Given the description of an element on the screen output the (x, y) to click on. 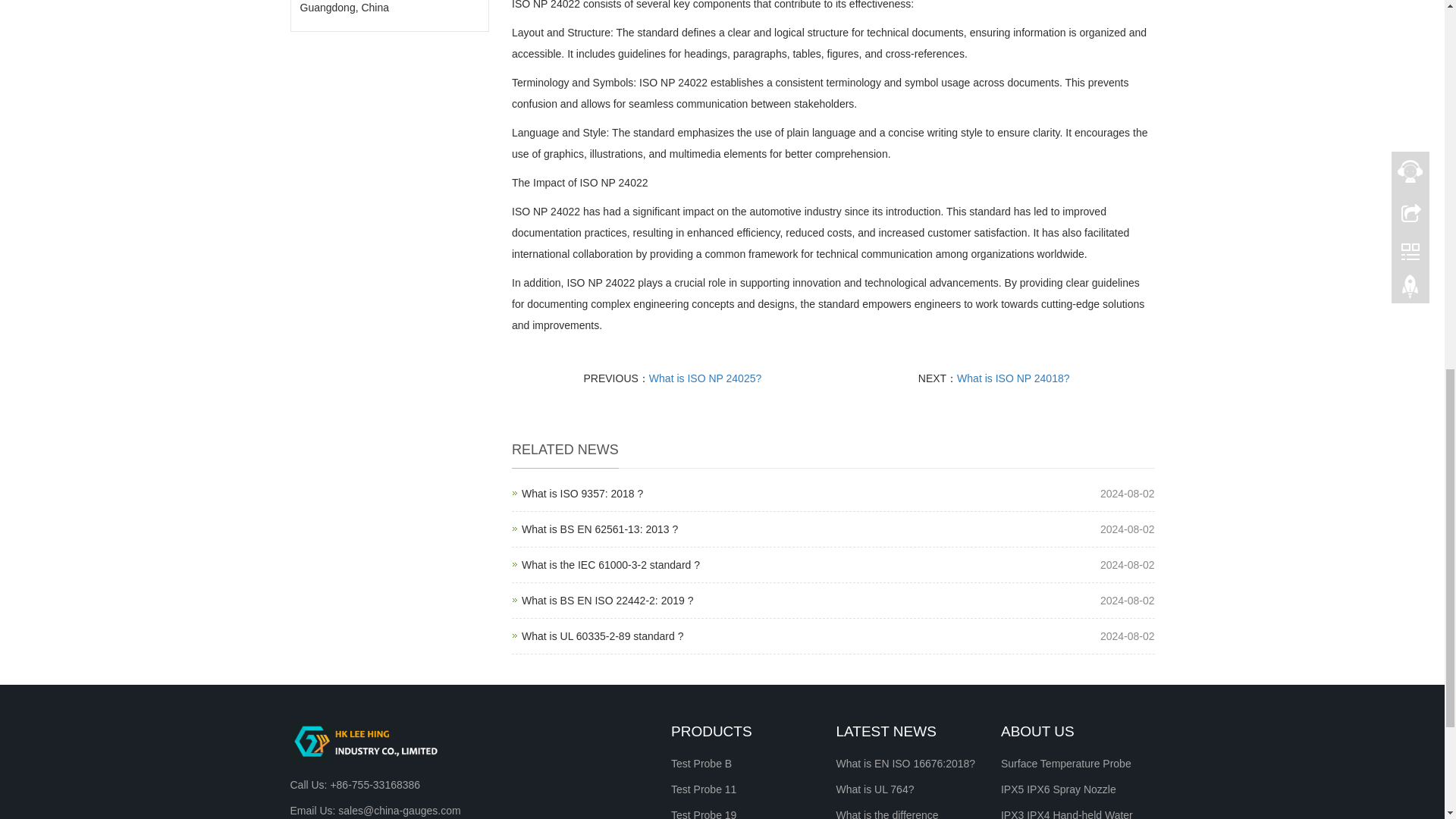
What is ISO NP 24025? (582, 493)
What is ISO NP 24018? (607, 600)
What is ISO 9357: 2018 ? (705, 378)
